Given the description of an element on the screen output the (x, y) to click on. 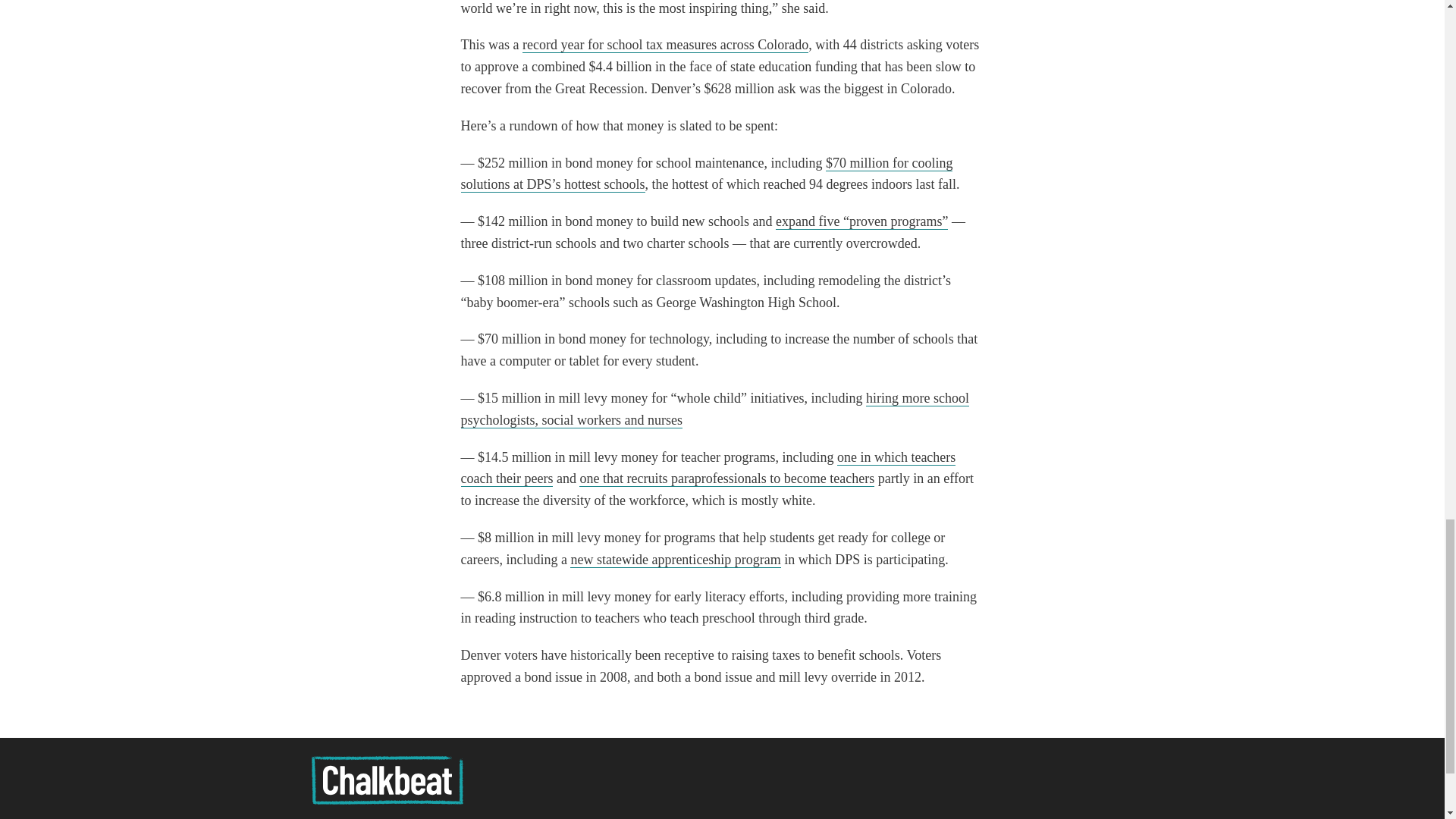
one in which teachers coach their peers (708, 468)
new statewide apprenticeship program (675, 560)
record year for school tax measures across Colorado (665, 44)
one that recruits paraprofessionals to become teachers (727, 478)
hiring more school psychologists, social workers and nurses (715, 409)
